Given the description of an element on the screen output the (x, y) to click on. 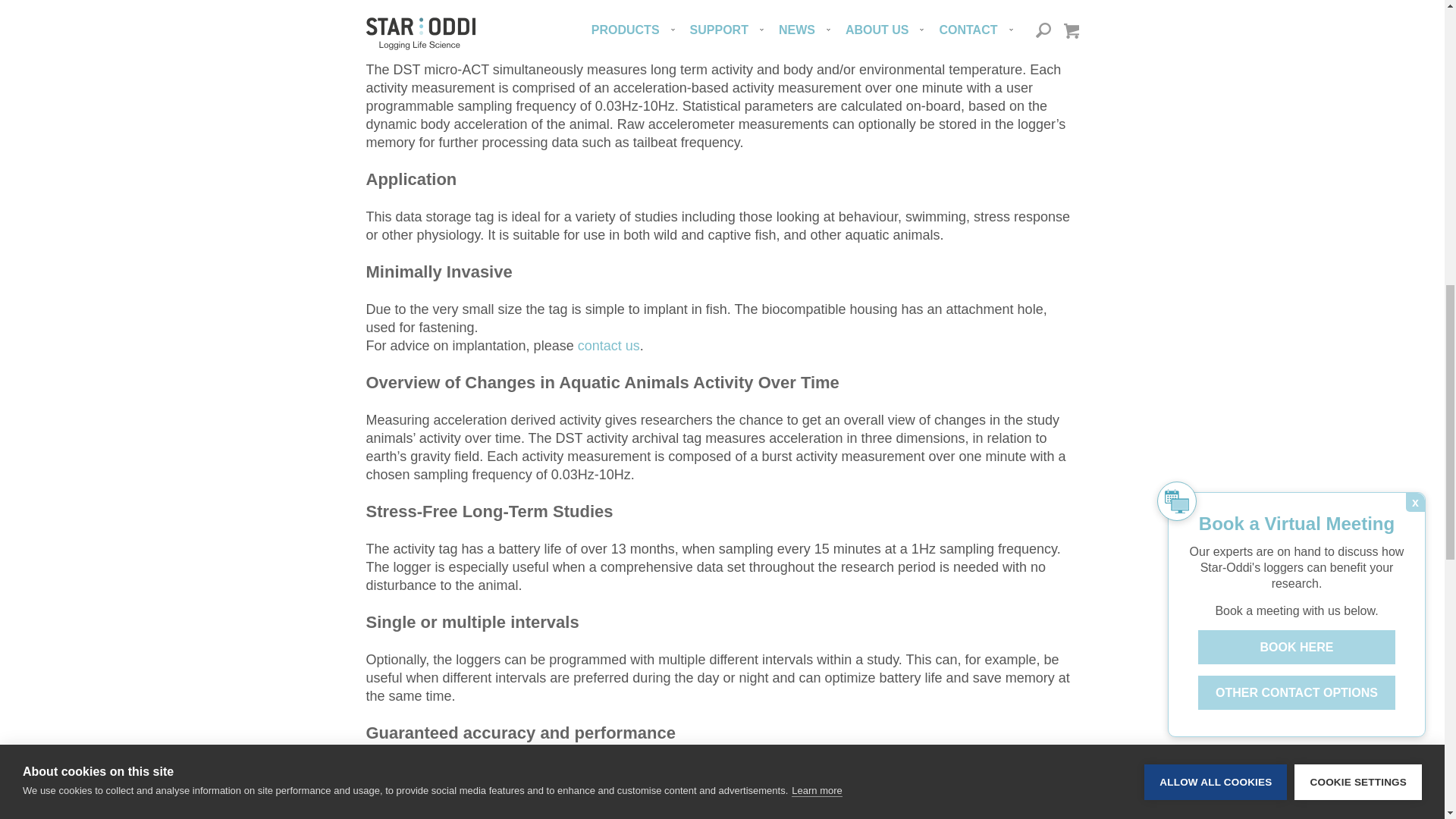
Learn more (816, 42)
COOKIE SETTINGS (1358, 14)
ALLOW ALL COOKIES (1215, 20)
contact us (609, 345)
